Given the description of an element on the screen output the (x, y) to click on. 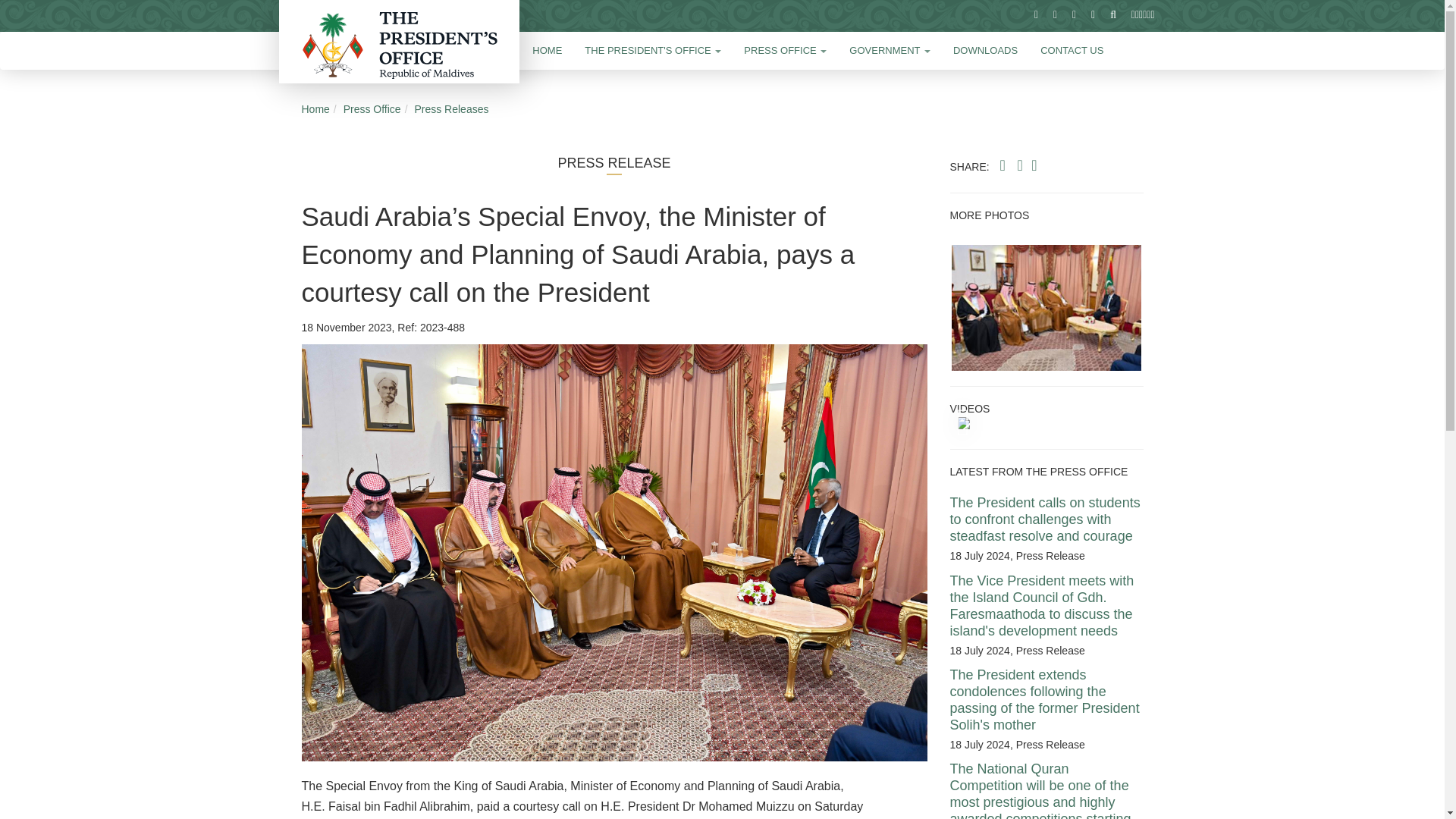
Press Office (372, 109)
DOWNLOADS (985, 50)
Press Releases (450, 109)
CONTACT US (1072, 50)
PRESS OFFICE (785, 50)
Home (315, 109)
THE PRESIDENT'S OFFICE (652, 50)
GOVERNMENT (890, 50)
Change language to Dhivehi (1142, 14)
HOME (547, 50)
